Given the description of an element on the screen output the (x, y) to click on. 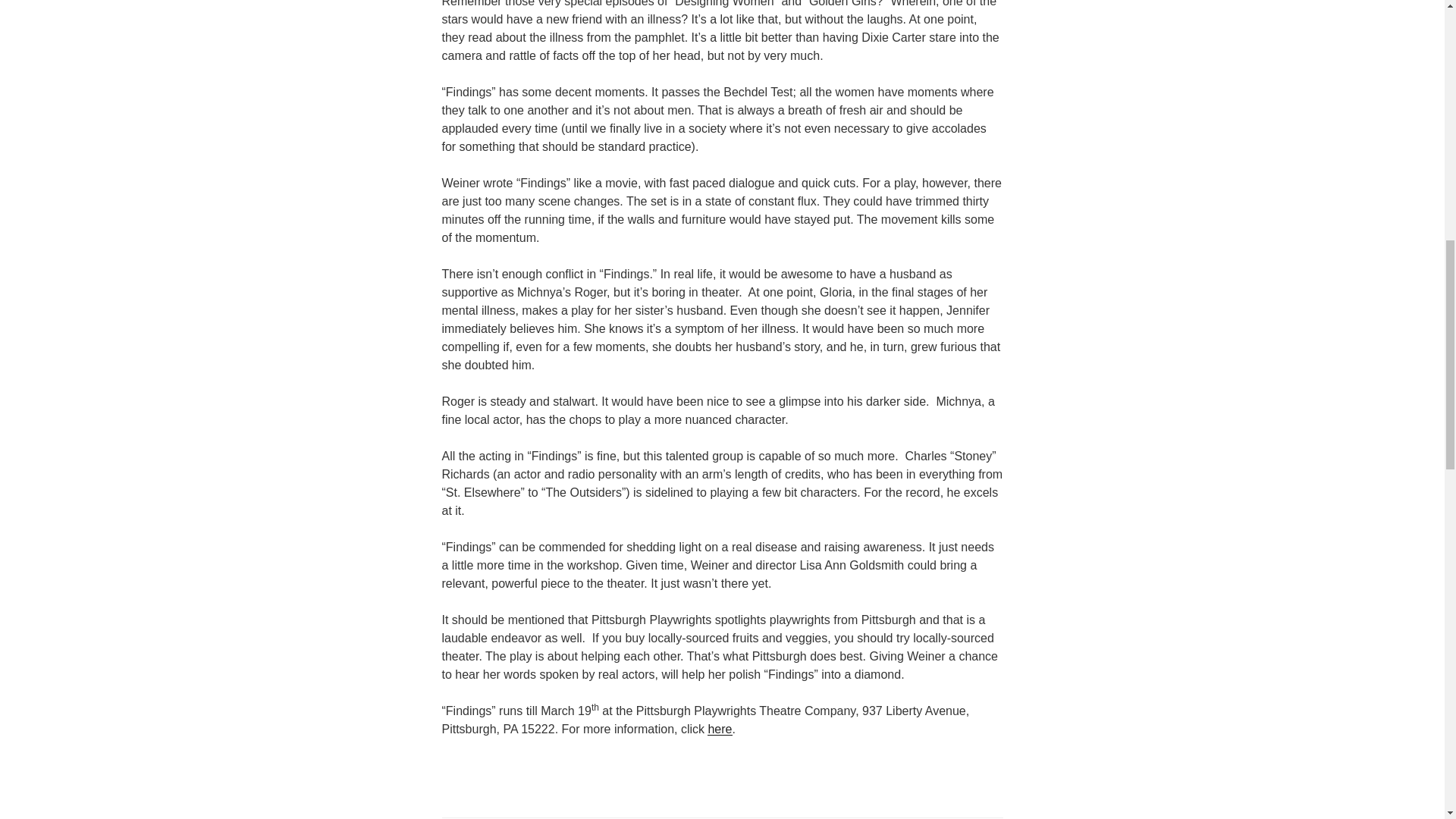
here (719, 728)
